Given the description of an element on the screen output the (x, y) to click on. 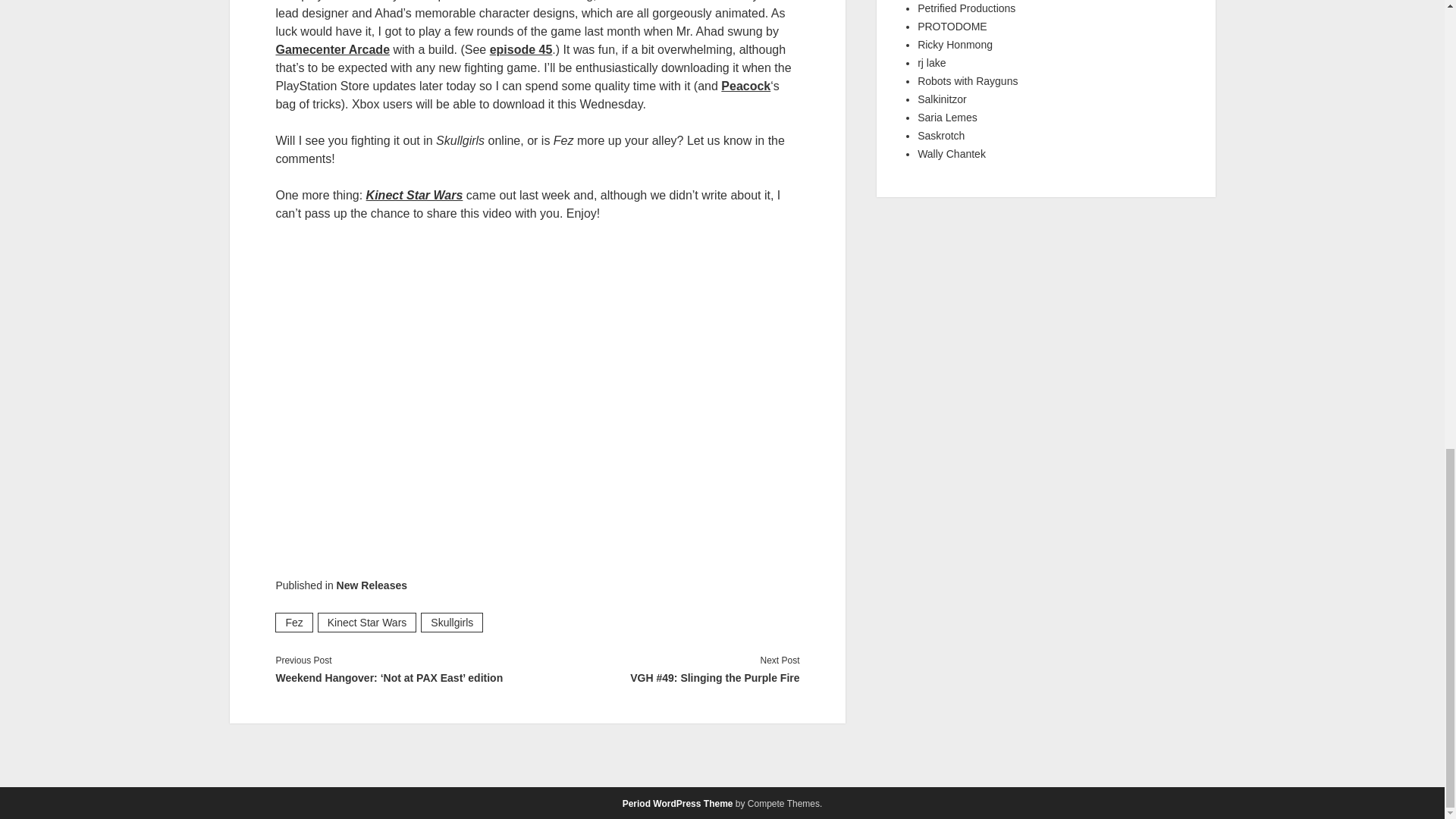
View all posts tagged Kinect Star Wars (366, 622)
View all posts tagged Skullgirls (451, 622)
Kinect Star Wars (414, 195)
View all posts tagged Fez (294, 622)
View all posts in New Releases (371, 585)
Gamecenter Arcade (332, 49)
Fez (294, 622)
New Releases (371, 585)
episode 45 (521, 49)
Kinect Star Wars (366, 622)
Skullgirls (451, 622)
Peacock (745, 85)
